Given the description of an element on the screen output the (x, y) to click on. 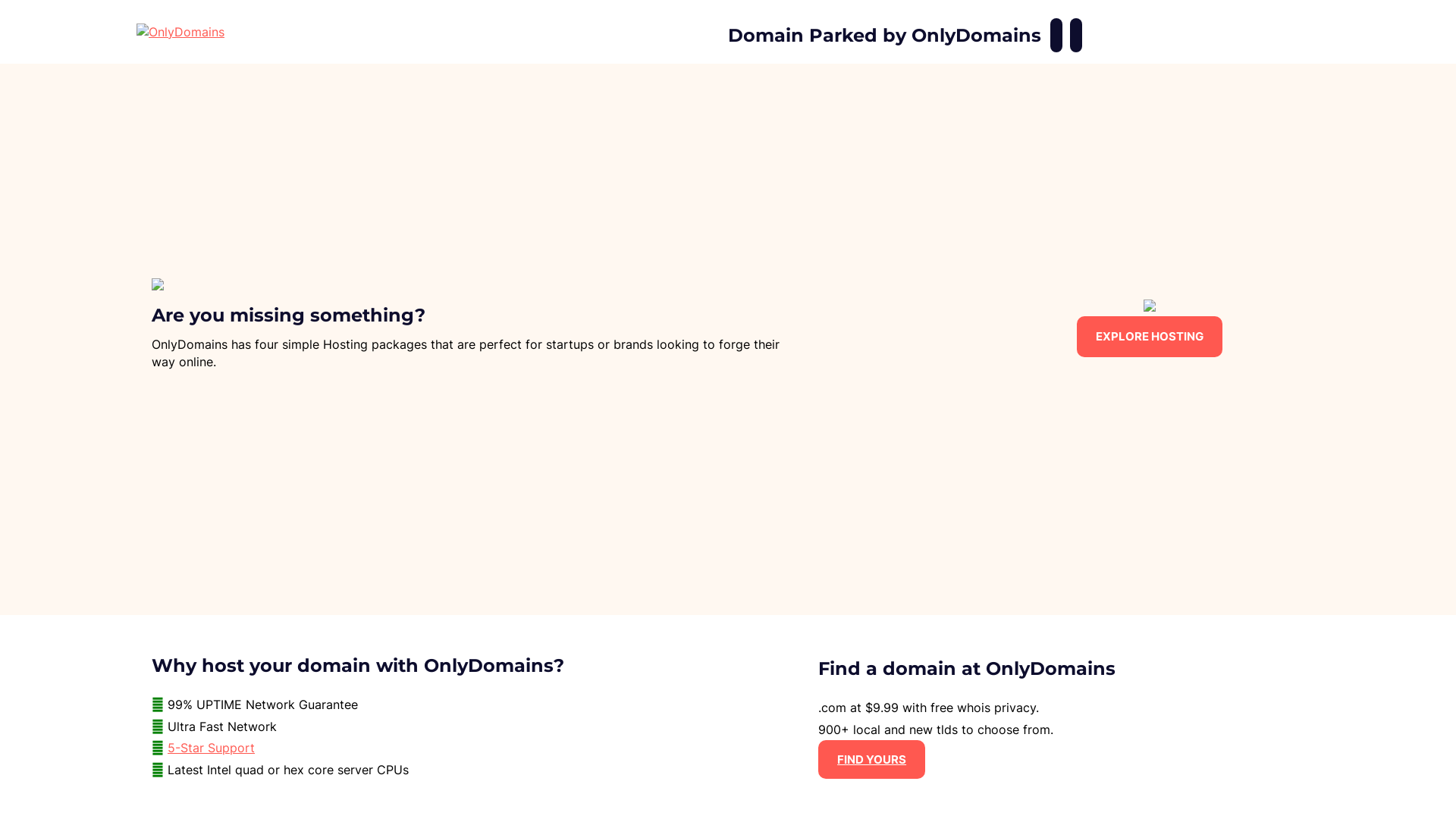
OnlyDomains Twitter Element type: hover (1075, 35)
EXPLORE HOSTING Element type: text (1149, 336)
5-Star Support Element type: text (210, 747)
OnlyDomains Facebook Element type: hover (1056, 35)
FIND YOURS Element type: text (871, 759)
